Given the description of an element on the screen output the (x, y) to click on. 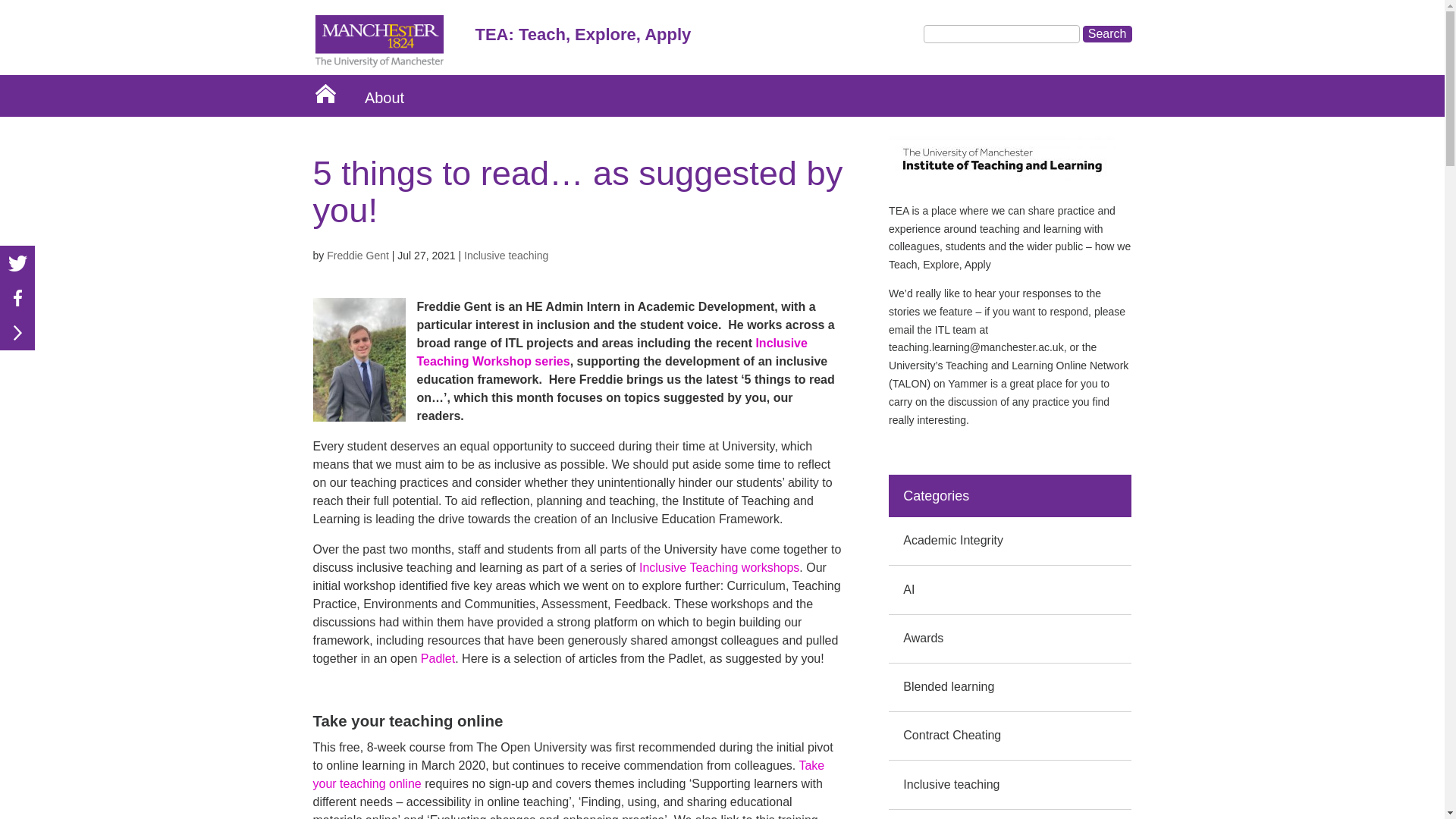
Contract Cheating (951, 735)
Search (1107, 33)
Take your teaching online (568, 774)
Search (1107, 33)
TEA: Teach, Explore, Apply (737, 38)
Freddie Gent (357, 255)
Academic Integrity (952, 540)
Inclusive teaching (506, 255)
About (383, 96)
Inclusive Teaching workshops (719, 567)
Padlet (437, 658)
Inclusive teaching (950, 784)
Inclusive Teaching Workshop series (612, 351)
Awards (922, 637)
Posts by Freddie Gent (357, 255)
